Given the description of an element on the screen output the (x, y) to click on. 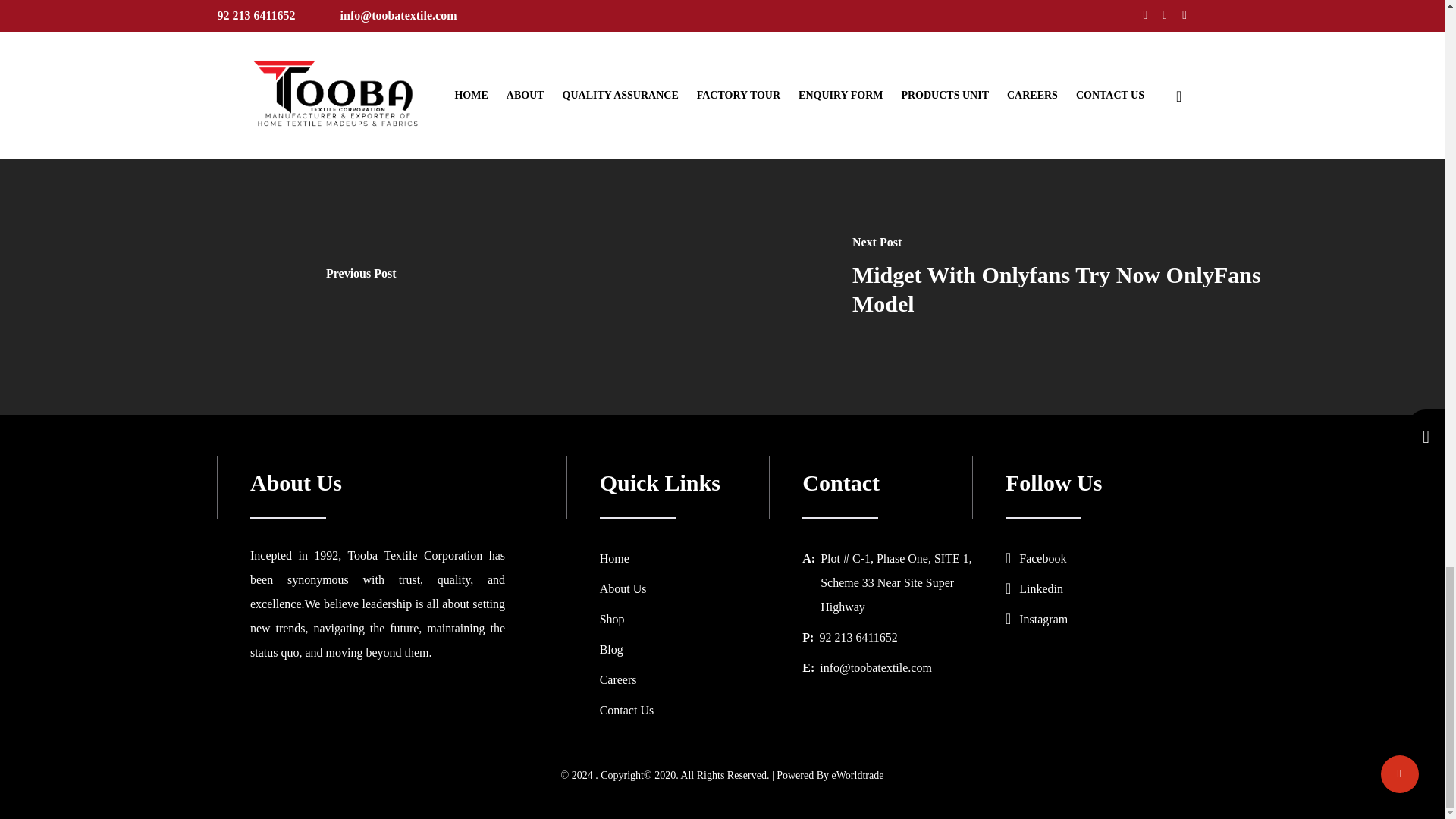
No Comments (395, 3)
Shop (611, 618)
About Us (622, 588)
Contact Us (626, 709)
Home (613, 558)
Careers (618, 679)
Blog (611, 649)
